Given the description of an element on the screen output the (x, y) to click on. 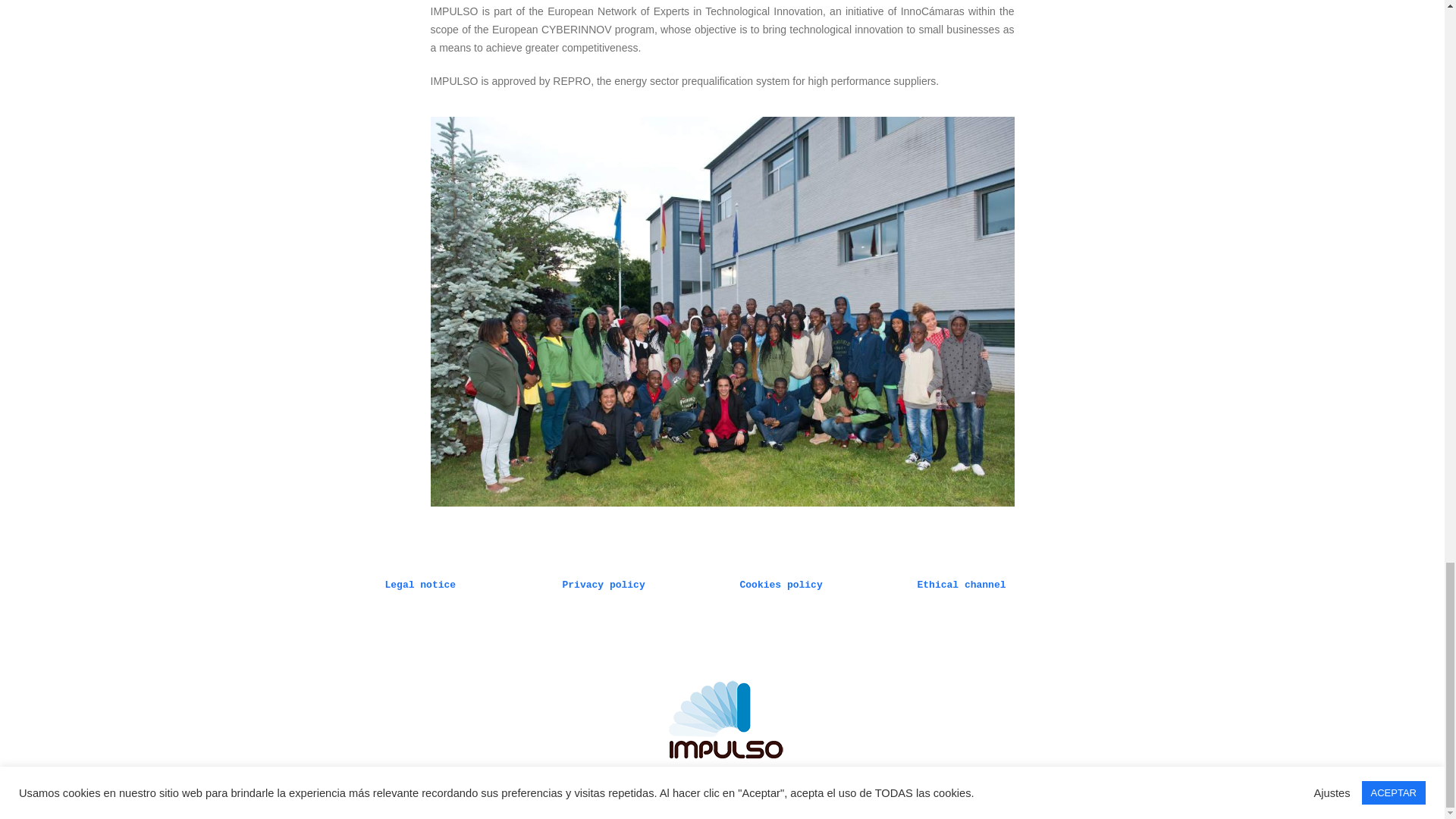
Legal notice (421, 584)
Privacy policy (603, 584)
Cookies policy (780, 584)
